Given the description of an element on the screen output the (x, y) to click on. 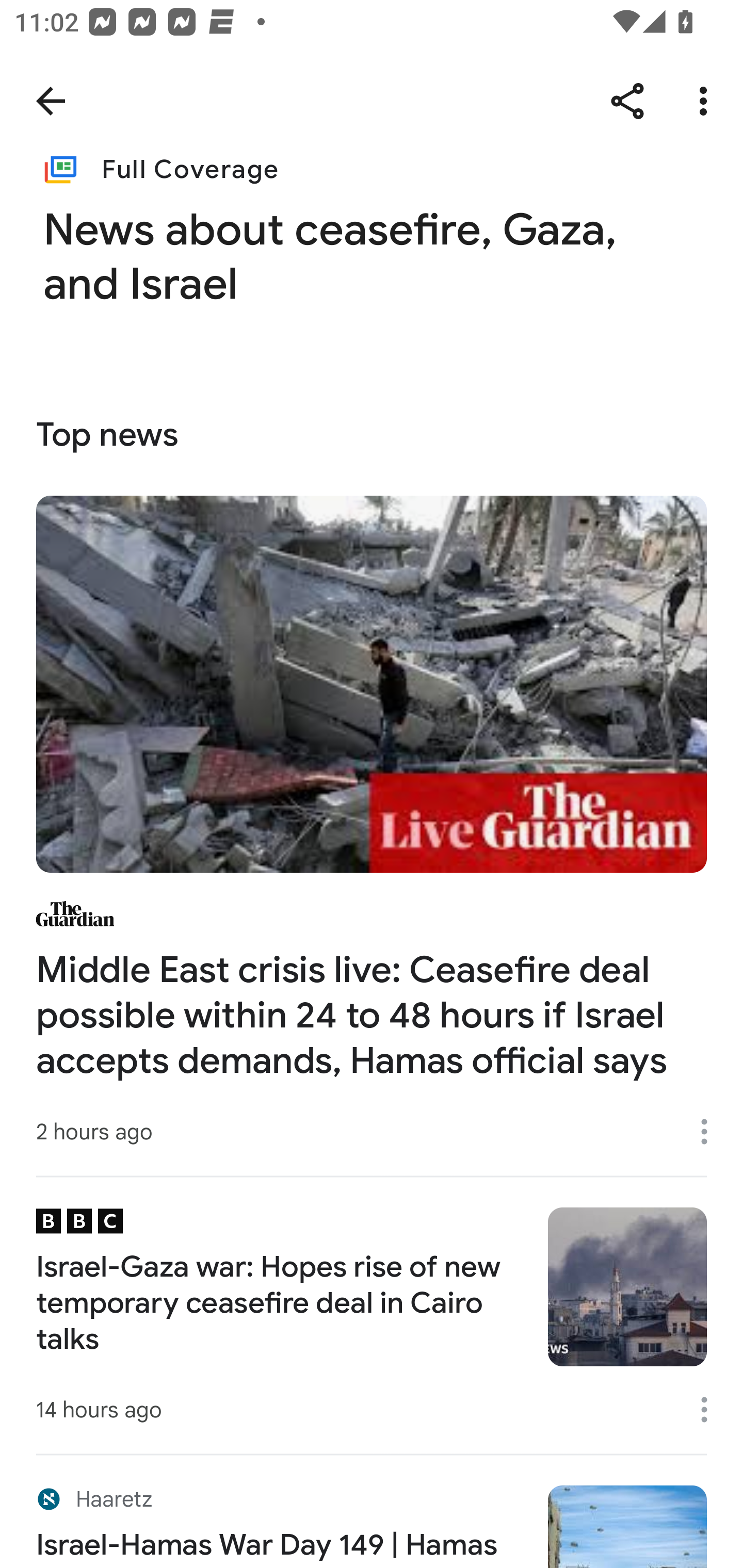
Navigate up (50, 101)
Share (626, 101)
More options (706, 101)
More options (711, 1131)
More options (711, 1409)
